Given the description of an element on the screen output the (x, y) to click on. 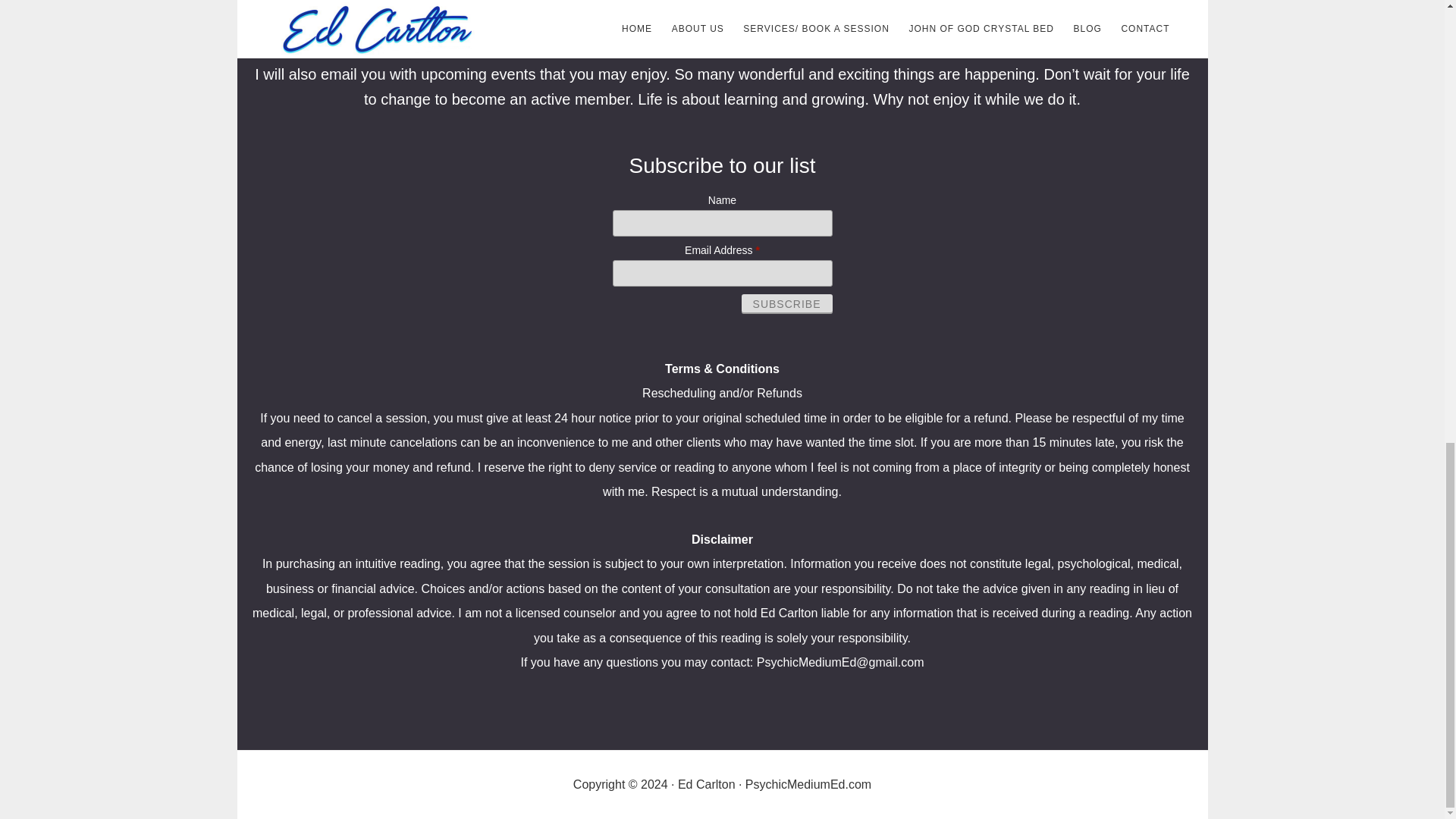
PsychicMediumEd.com (807, 784)
Subscribe (786, 303)
Subscribe (786, 303)
